Given the description of an element on the screen output the (x, y) to click on. 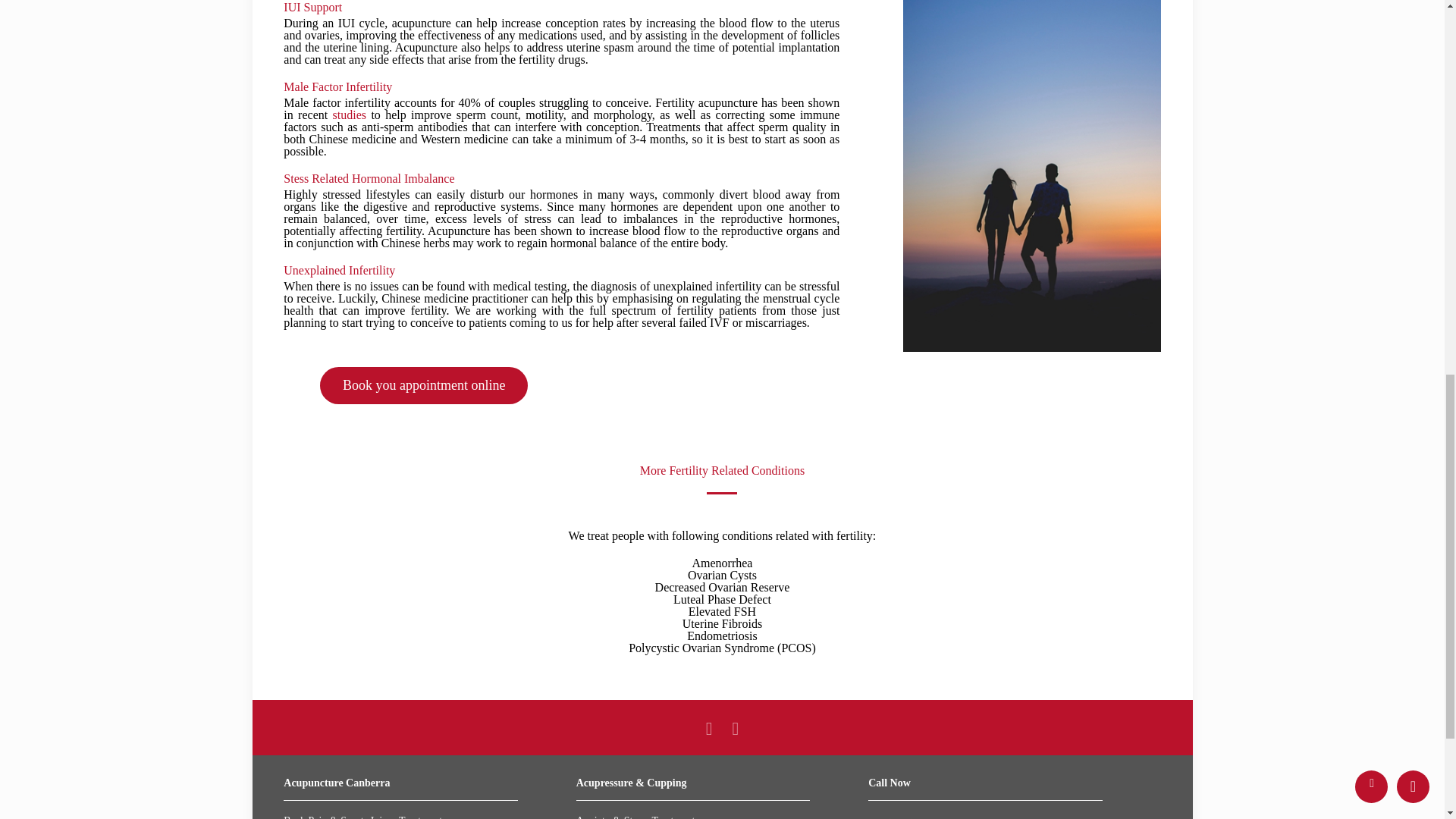
Book you appointment online (423, 388)
studies (349, 114)
Acupuncture Canberra (336, 782)
